Given the description of an element on the screen output the (x, y) to click on. 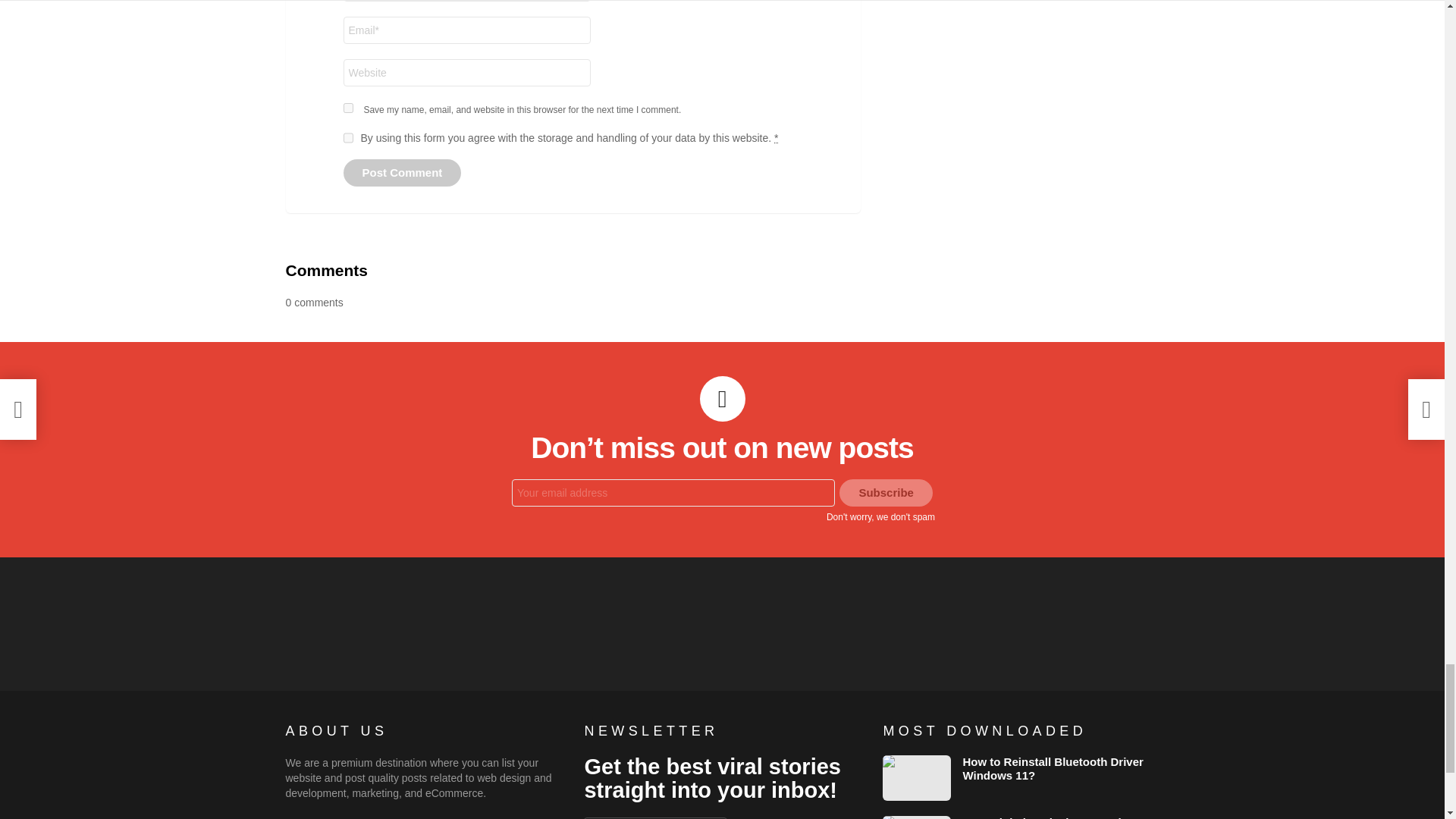
yes (347, 108)
Subscribe (886, 492)
Post Comment (401, 172)
